Given the description of an element on the screen output the (x, y) to click on. 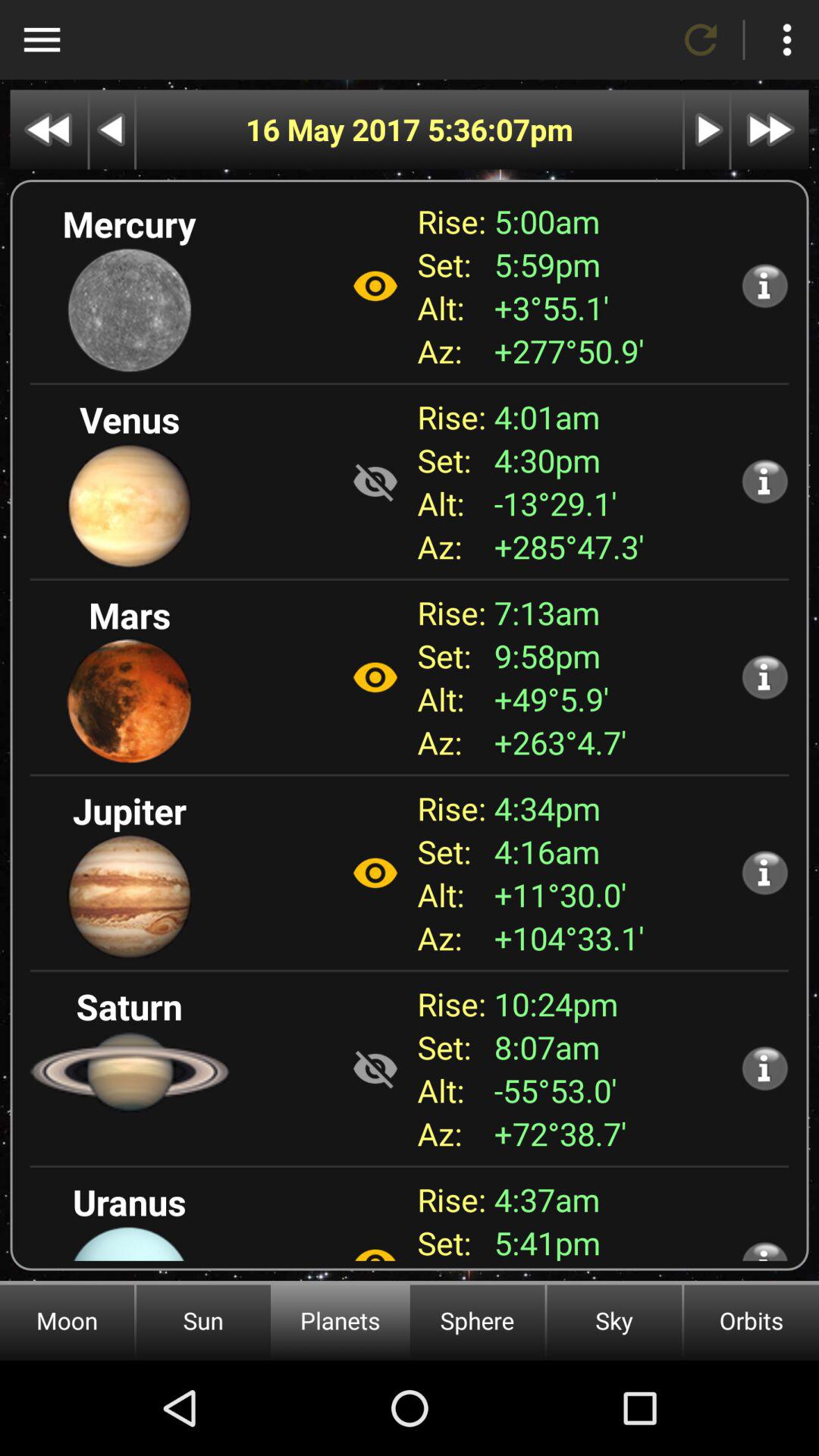
additional information (764, 677)
